Given the description of an element on the screen output the (x, y) to click on. 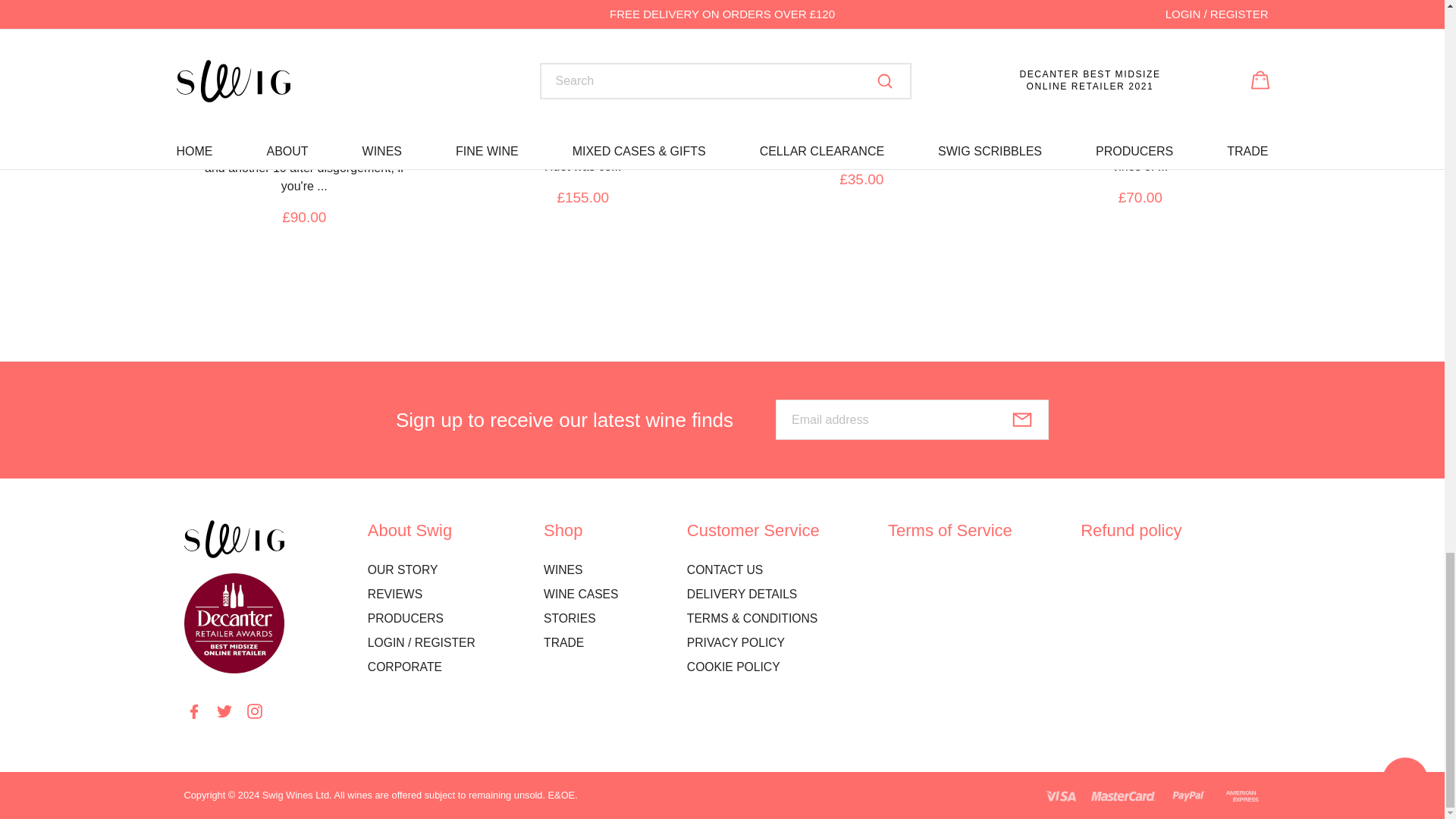
Swig Wines on Facebook (193, 711)
Swig Wines on Instagram (254, 711)
Swig Wines on Twitter (224, 711)
